Given the description of an element on the screen output the (x, y) to click on. 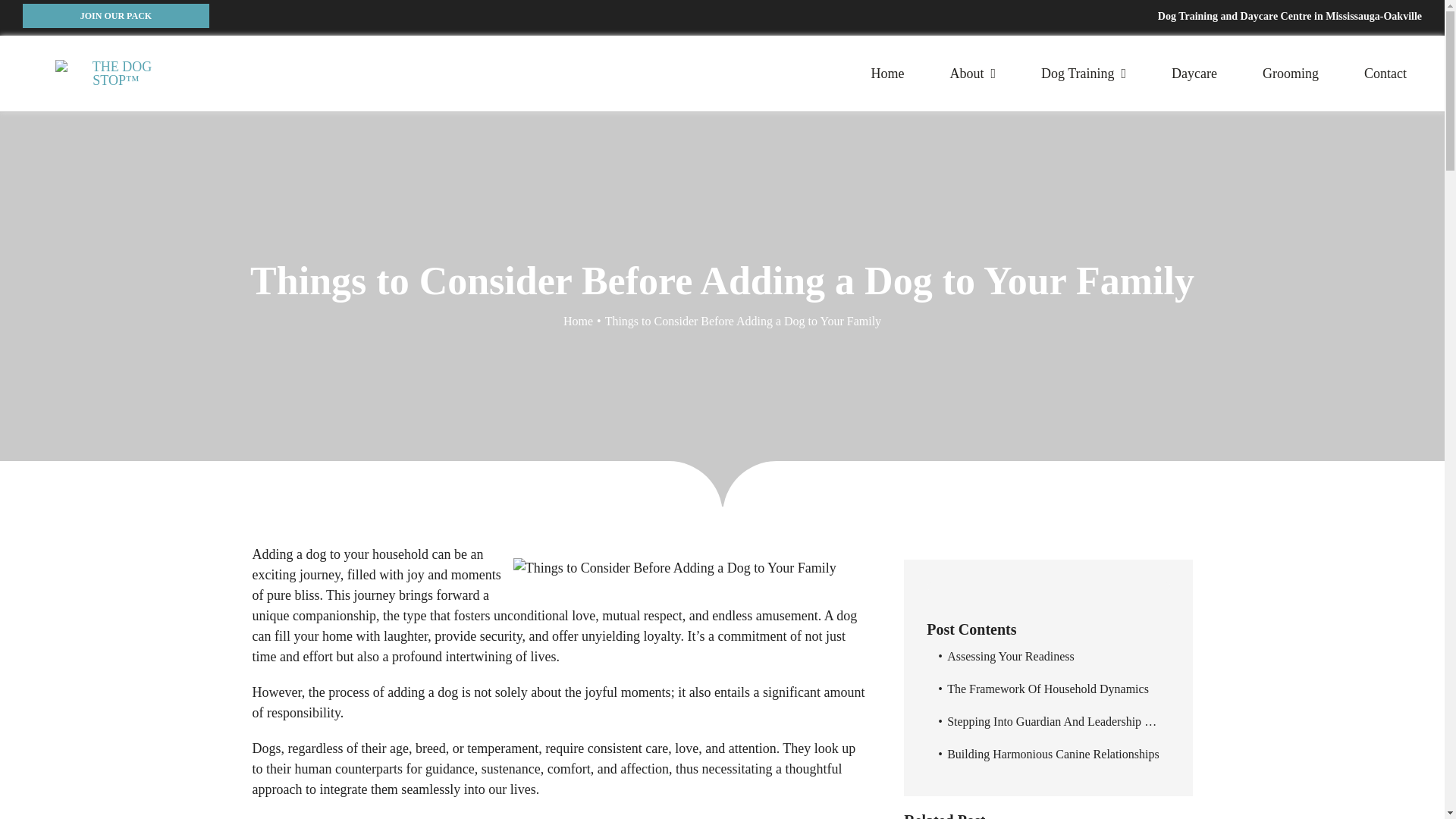
Home (887, 73)
JOIN OUR PACK (116, 15)
Grooming (1290, 73)
Dog Training (1083, 73)
0 (1047, 585)
Daycare (1193, 73)
Contact (1385, 73)
About (972, 73)
